Given the description of an element on the screen output the (x, y) to click on. 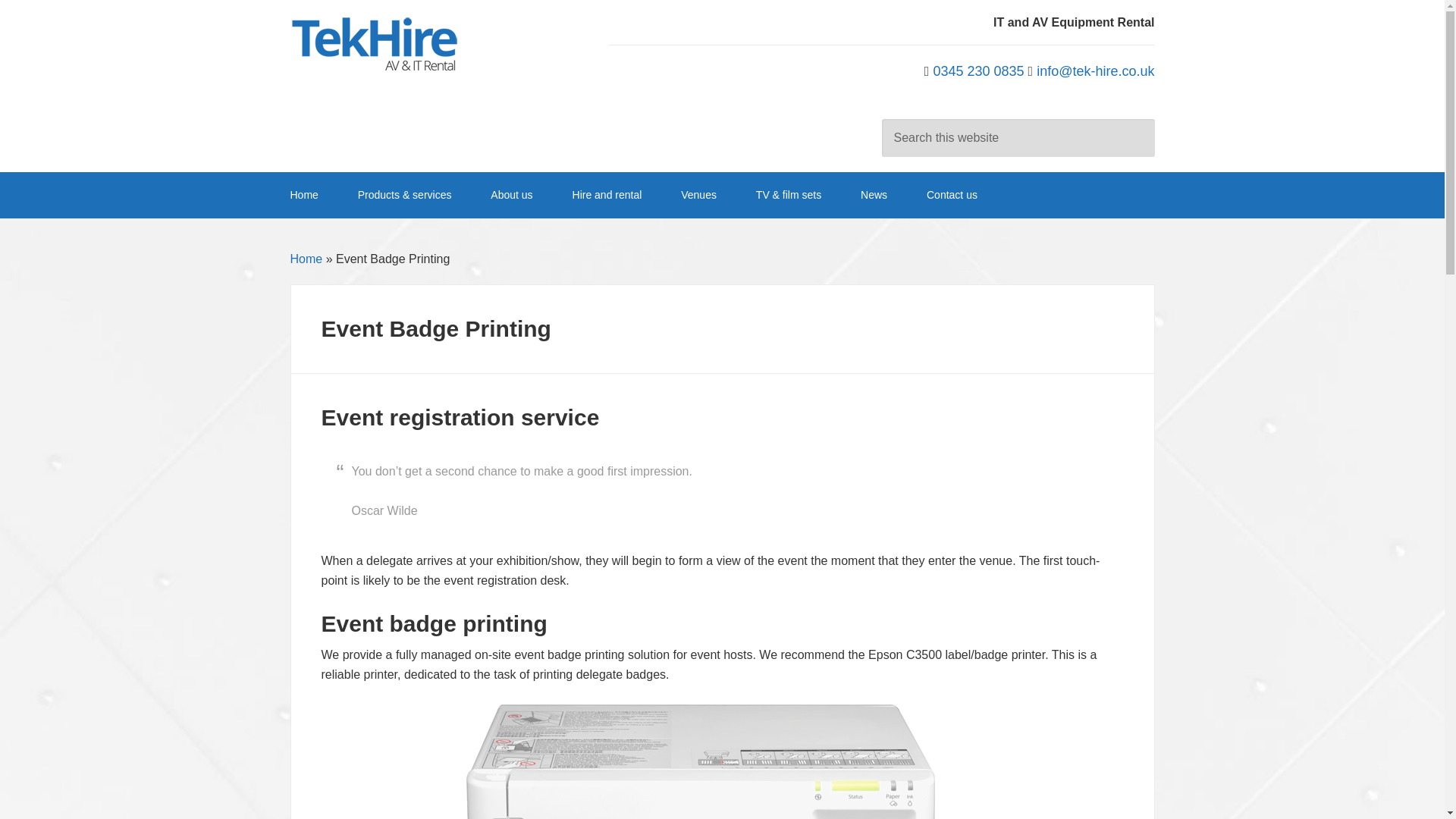
News (874, 194)
Tek Hire - IT and AV Equipment Rental (375, 45)
About us (510, 194)
Hire and rental (607, 194)
Home (305, 258)
Venues (698, 194)
Home (312, 194)
Contact us (942, 194)
0345 230 0835 (978, 70)
